Given the description of an element on the screen output the (x, y) to click on. 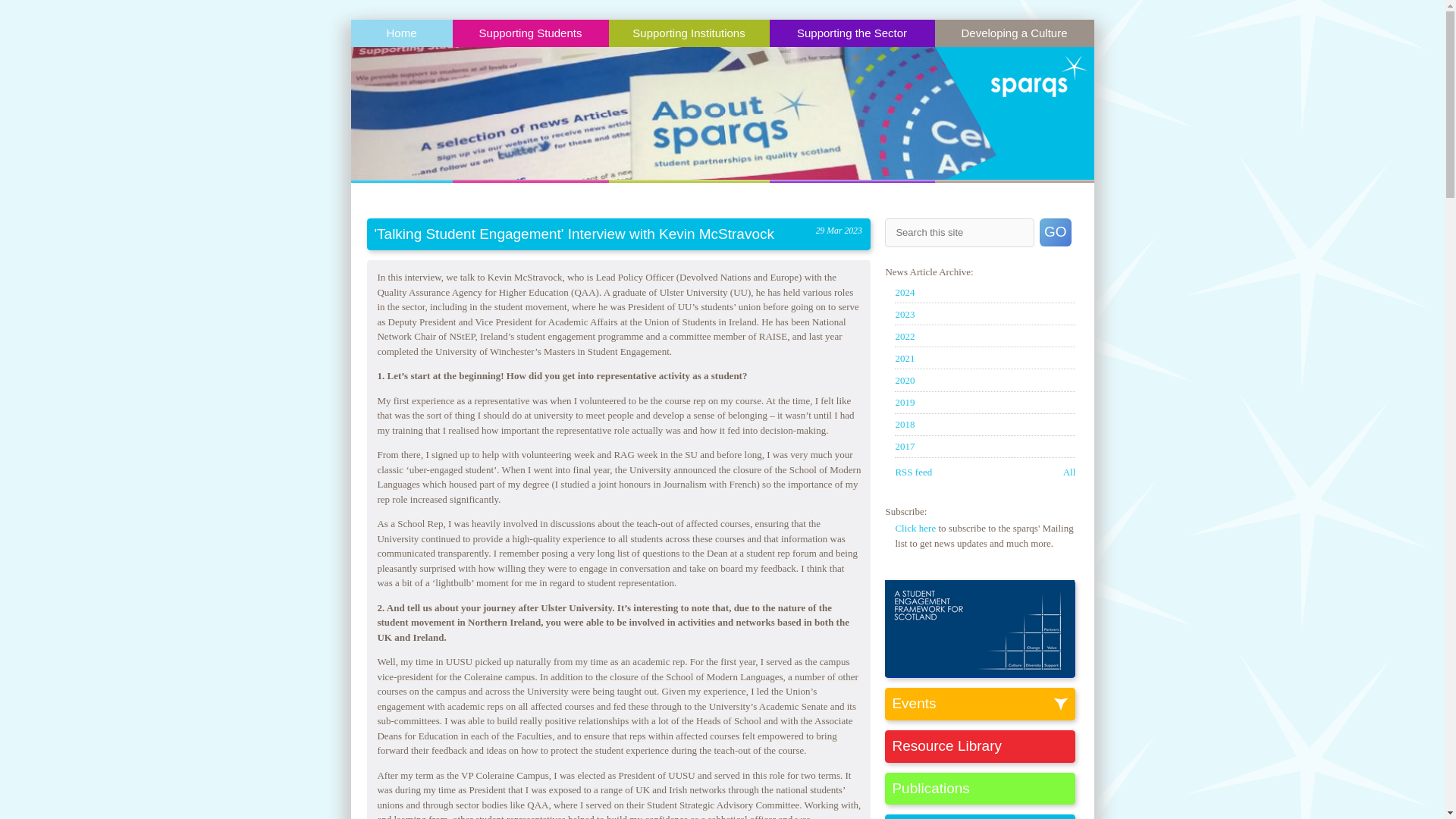
Home (400, 32)
Developing a Culture (1013, 32)
Supporting the Sector (851, 32)
sparqs news feed (913, 471)
sparqs news posts (1068, 471)
sparqs Resource Library (983, 746)
Student Engagement Framework document (979, 672)
GO (1055, 232)
sparqs Events (983, 703)
Supporting Institutions (688, 32)
2024 (904, 292)
sparqs Publications (983, 788)
Subscribe to sparqs' Mailing List (915, 527)
Supporting Students (529, 32)
